Given the description of an element on the screen output the (x, y) to click on. 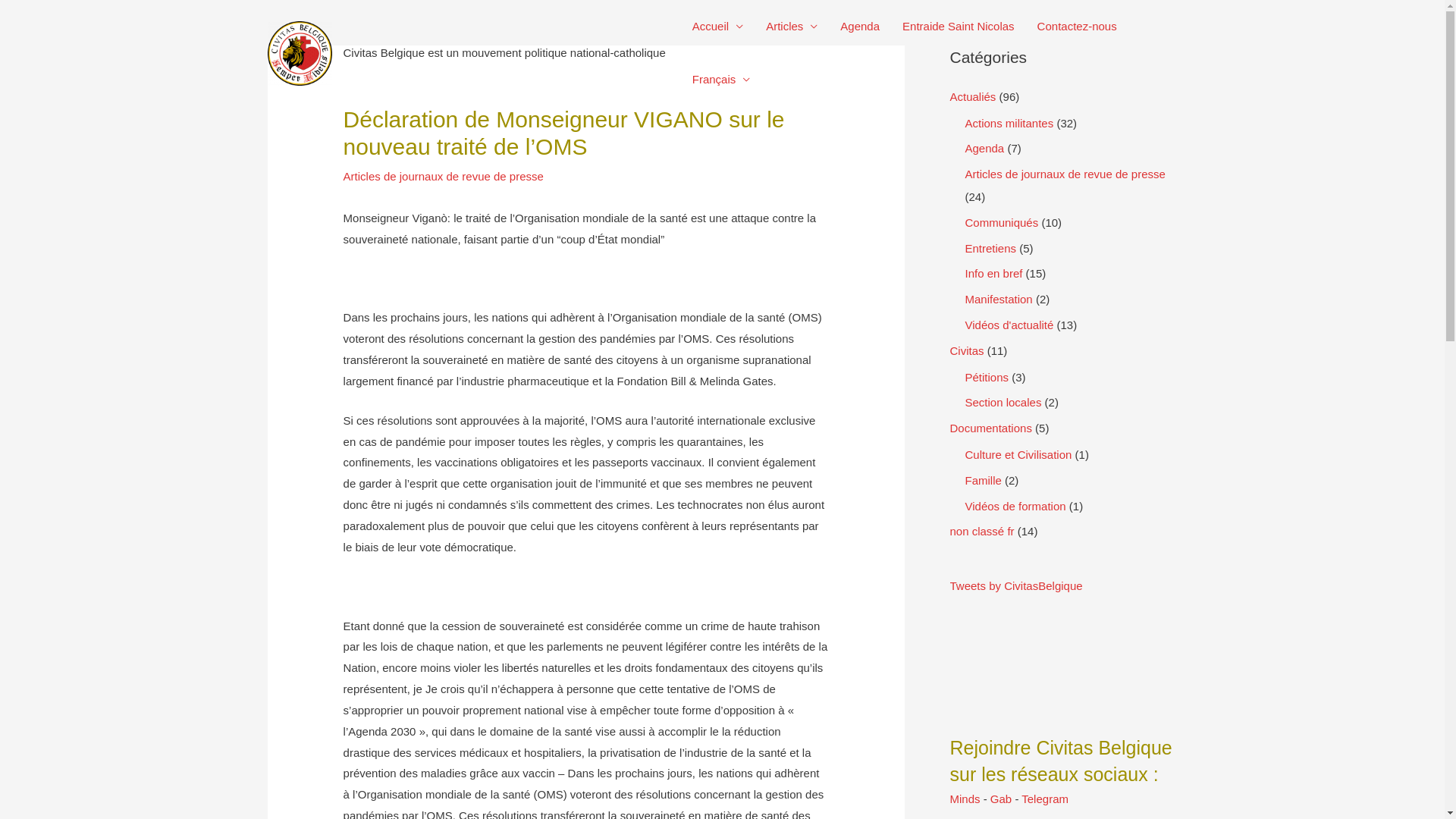
Telegram Element type: text (1044, 798)
Actions militantes Element type: text (1008, 122)
Entraide Saint Nicolas Element type: text (958, 26)
Minds Element type: text (964, 798)
Agenda Element type: text (859, 26)
Agenda Element type: text (984, 147)
Articles de journaux de revue de presse Element type: text (443, 175)
Info en bref Element type: text (993, 272)
Entretiens Element type: text (990, 247)
Culture et Civilisation Element type: text (1017, 454)
Famille Element type: text (982, 479)
Articles de journaux de revue de presse Element type: text (1064, 173)
Civitas Element type: text (966, 350)
Section locales Element type: text (1002, 401)
Gab Element type: text (1000, 798)
Tweets by CivitasBelgique Element type: text (1062, 638)
Manifestation Element type: text (998, 298)
Contactez-nous Element type: text (1077, 26)
Accueil Element type: text (717, 26)
Documentations Element type: text (990, 427)
Articles Element type: text (791, 26)
